Given the description of an element on the screen output the (x, y) to click on. 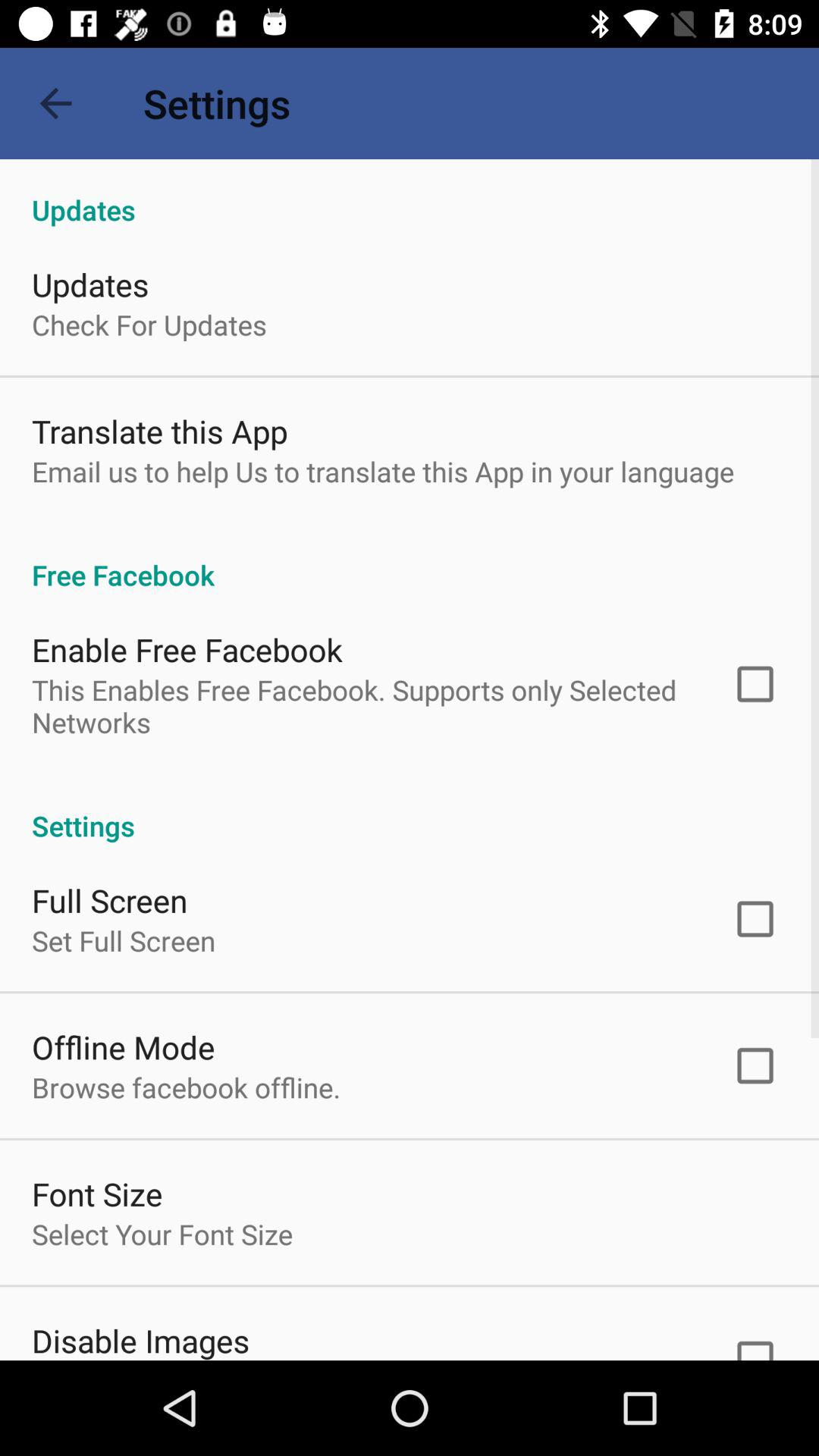
choose the check for updates item (148, 324)
